Given the description of an element on the screen output the (x, y) to click on. 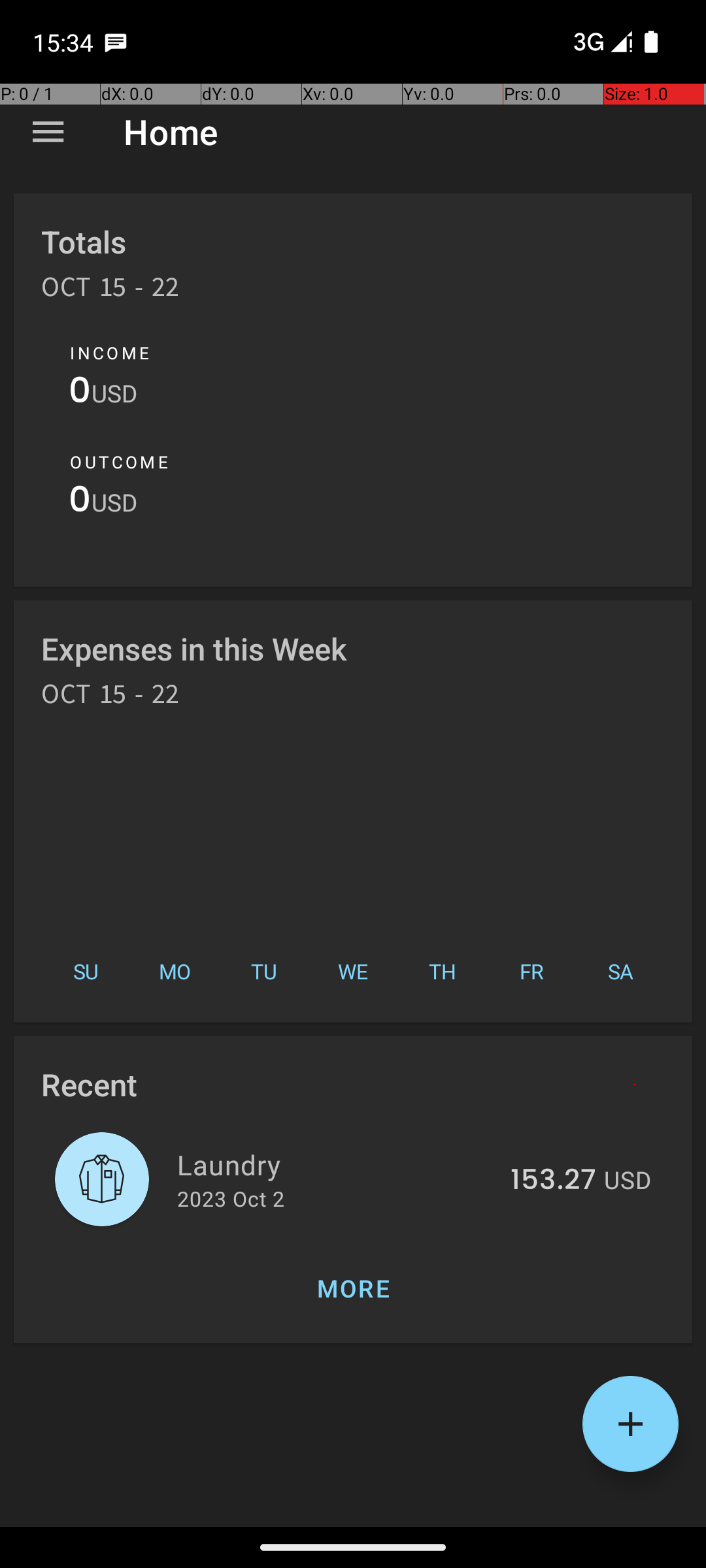
MORE Element type: android.widget.Button (352, 1288)
Laundry Element type: android.widget.TextView (336, 1164)
2023 Oct 2 Element type: android.widget.TextView (230, 1198)
153.27 Element type: android.widget.TextView (552, 1180)
